Given the description of an element on the screen output the (x, y) to click on. 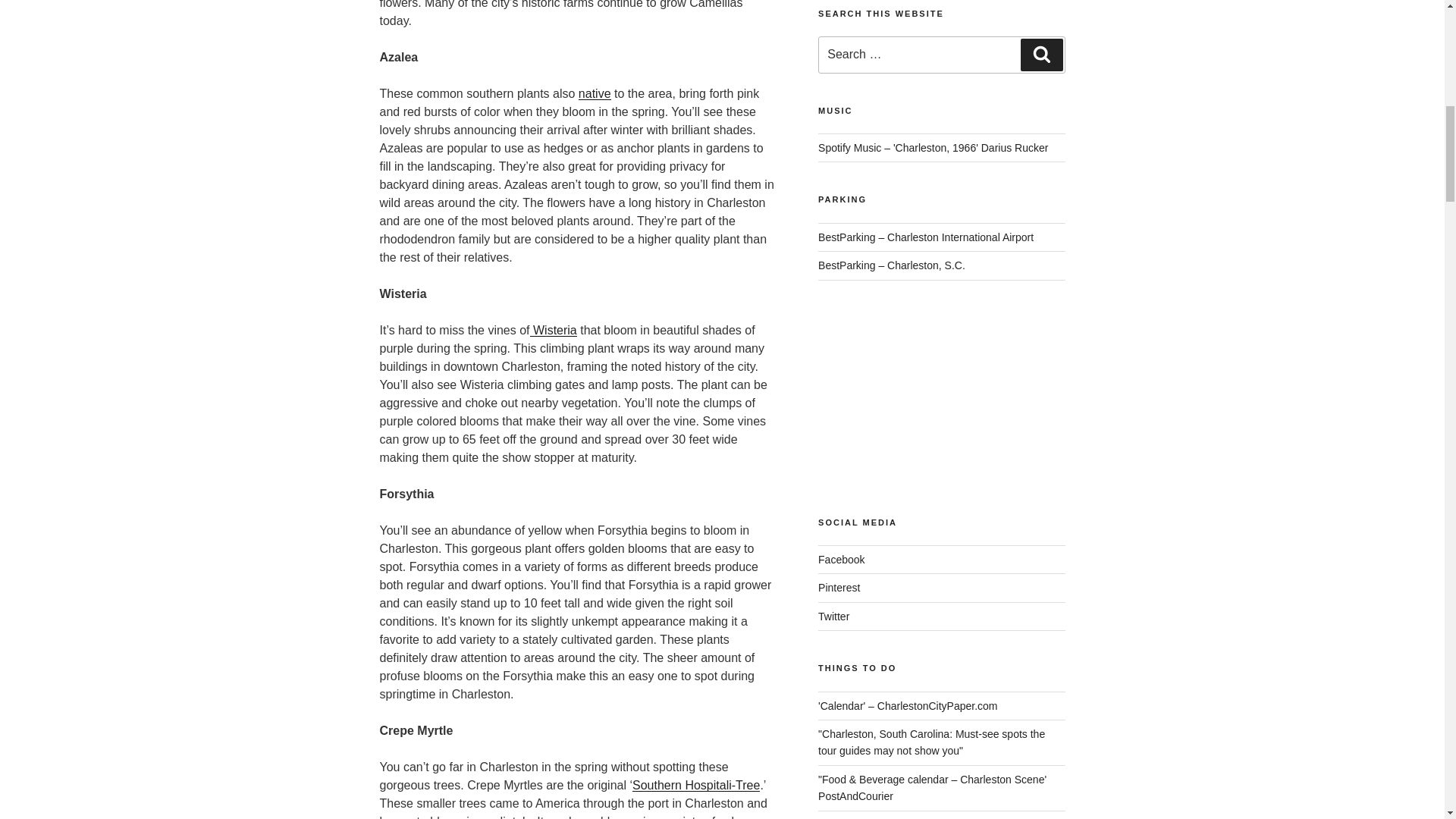
native (594, 92)
Facebook (841, 559)
Search (1041, 54)
Pinterest (839, 587)
Southern Hospitali-Tree (695, 784)
Twitter (833, 616)
Advertisement (941, 414)
Wisteria (554, 329)
